Given the description of an element on the screen output the (x, y) to click on. 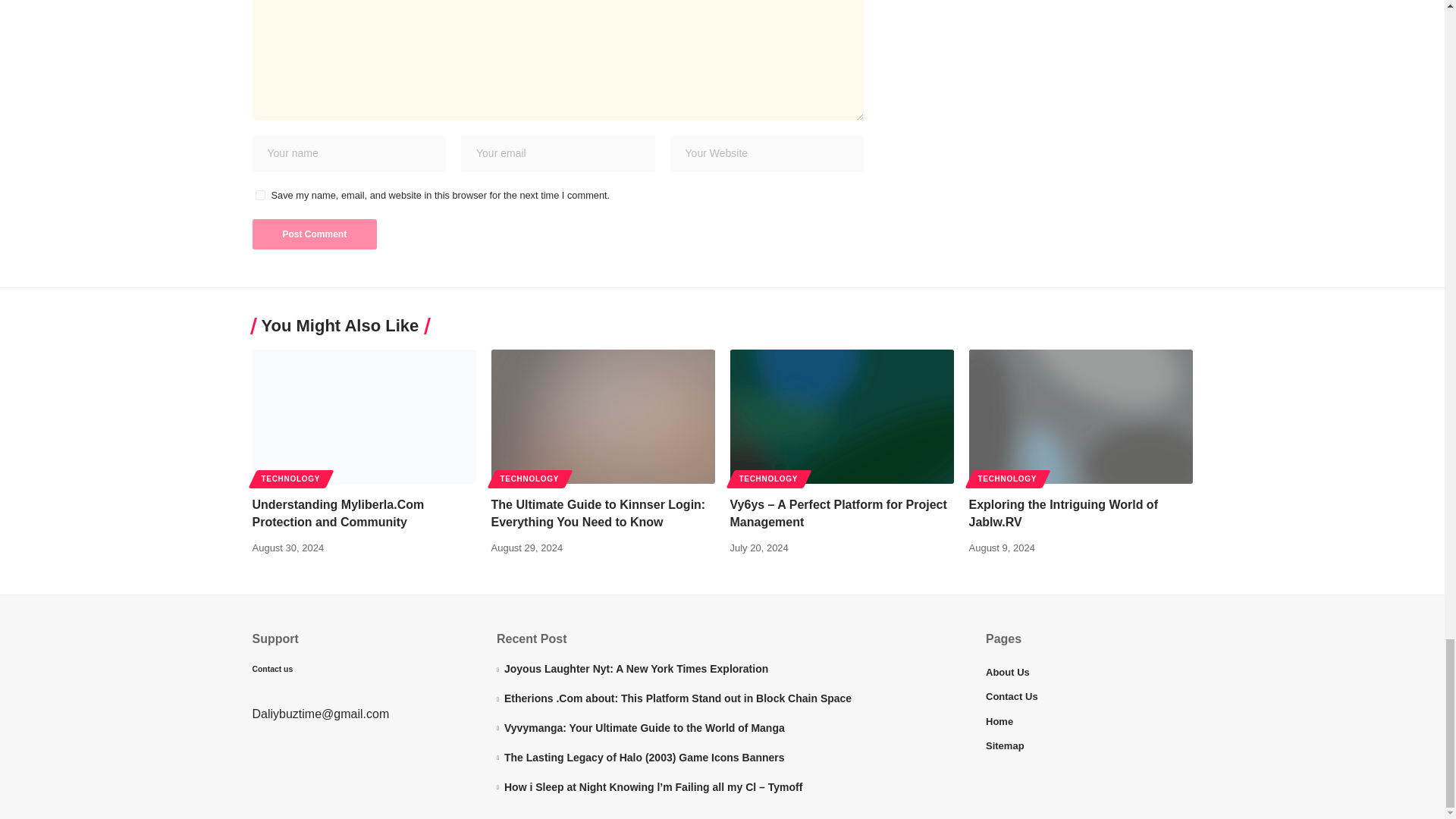
Exploring the Intriguing World of Jablw.RV (1080, 416)
yes (259, 194)
Understanding Myliberla.Com Protection and Community (363, 416)
Post Comment (314, 234)
